Given the description of an element on the screen output the (x, y) to click on. 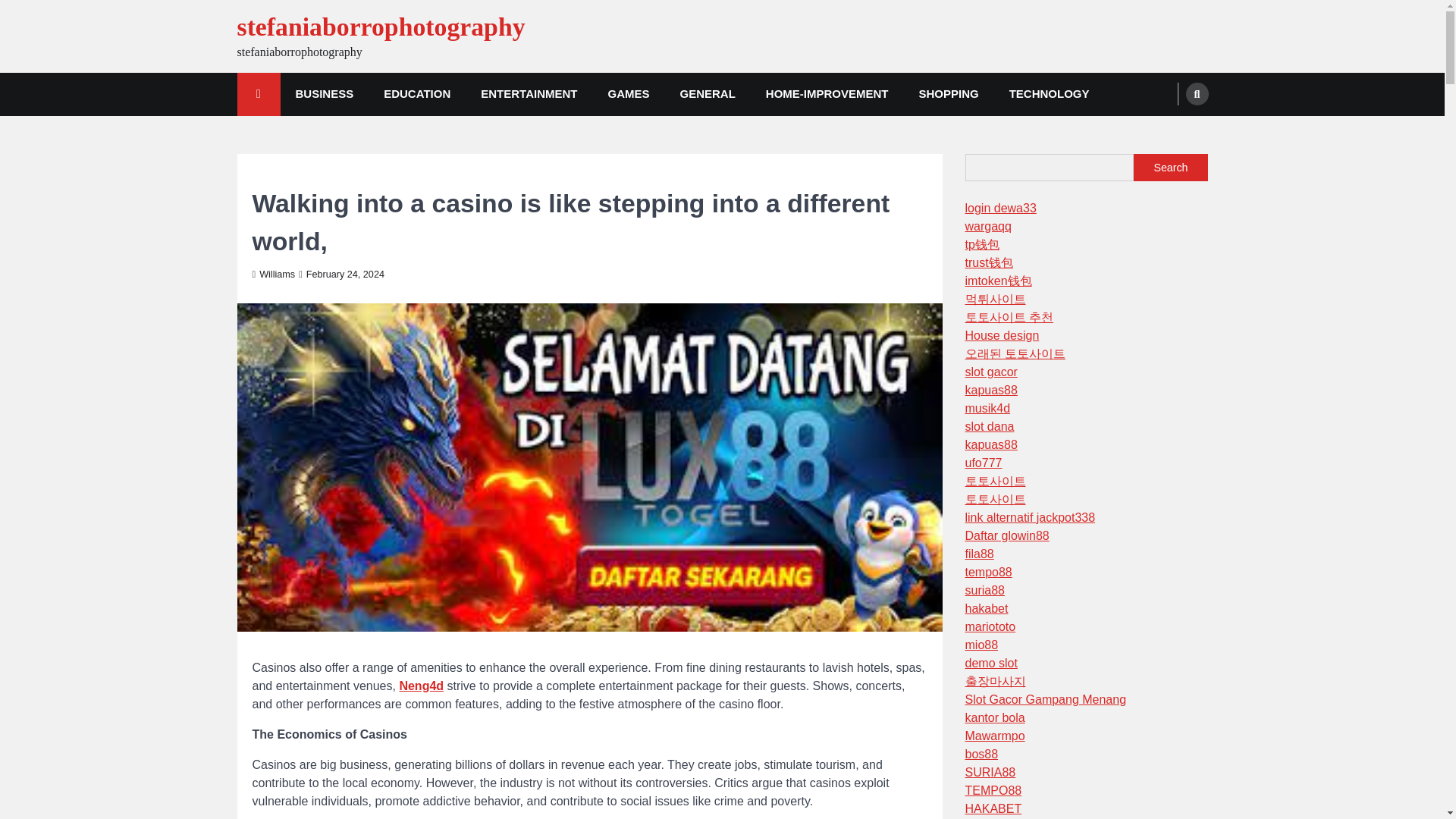
musik4d (986, 408)
Search (1197, 93)
Neng4d (421, 685)
February 24, 2024 (341, 274)
Search (1170, 166)
kapuas88 (989, 390)
BUSINESS (325, 94)
slot gacor (989, 371)
Williams (273, 274)
stefaniaborrophotography (379, 26)
